Given the description of an element on the screen output the (x, y) to click on. 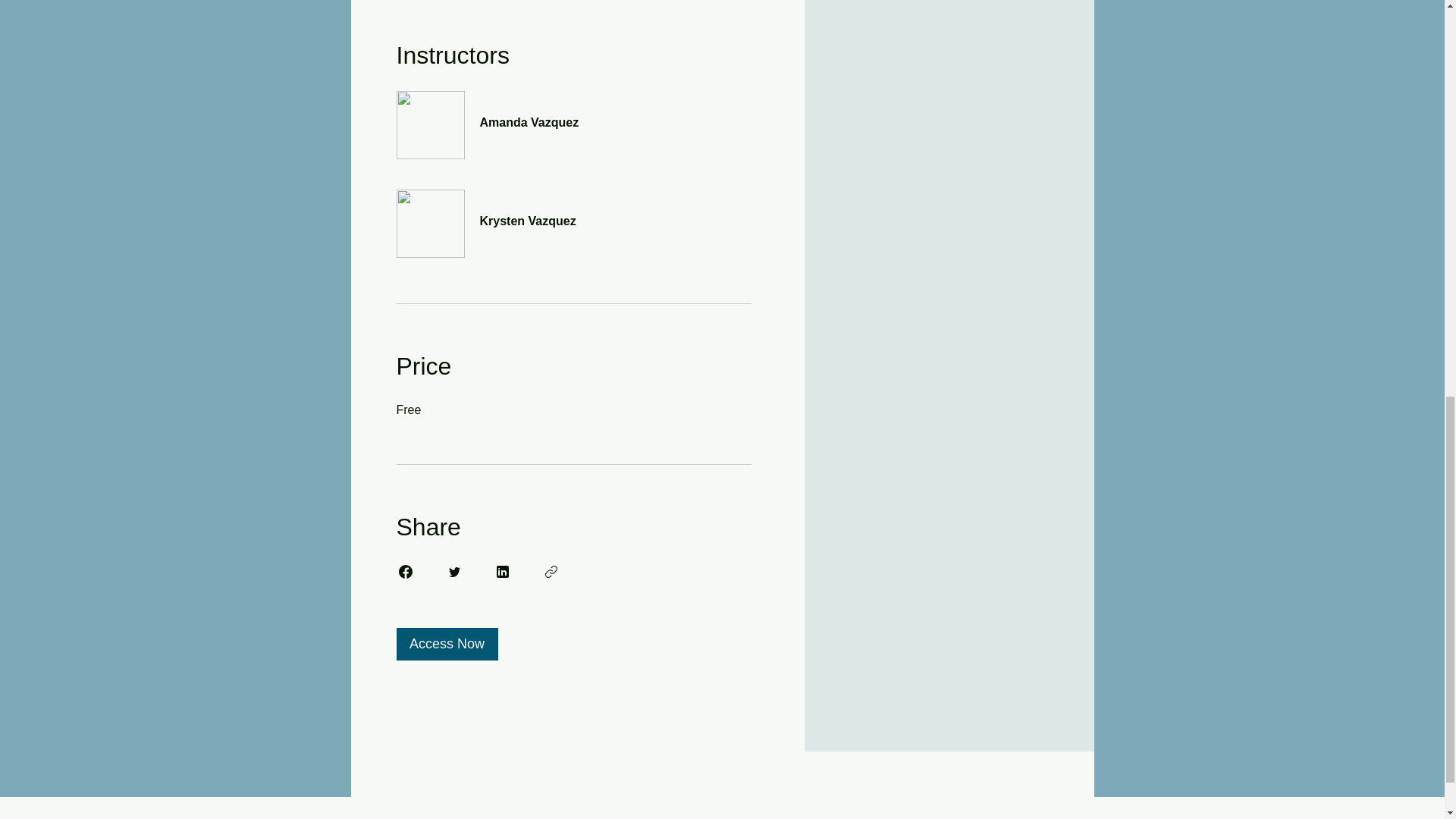
Amanda Vazquez (573, 113)
Access Now (446, 644)
Krysten Vazquez (573, 212)
